Given the description of an element on the screen output the (x, y) to click on. 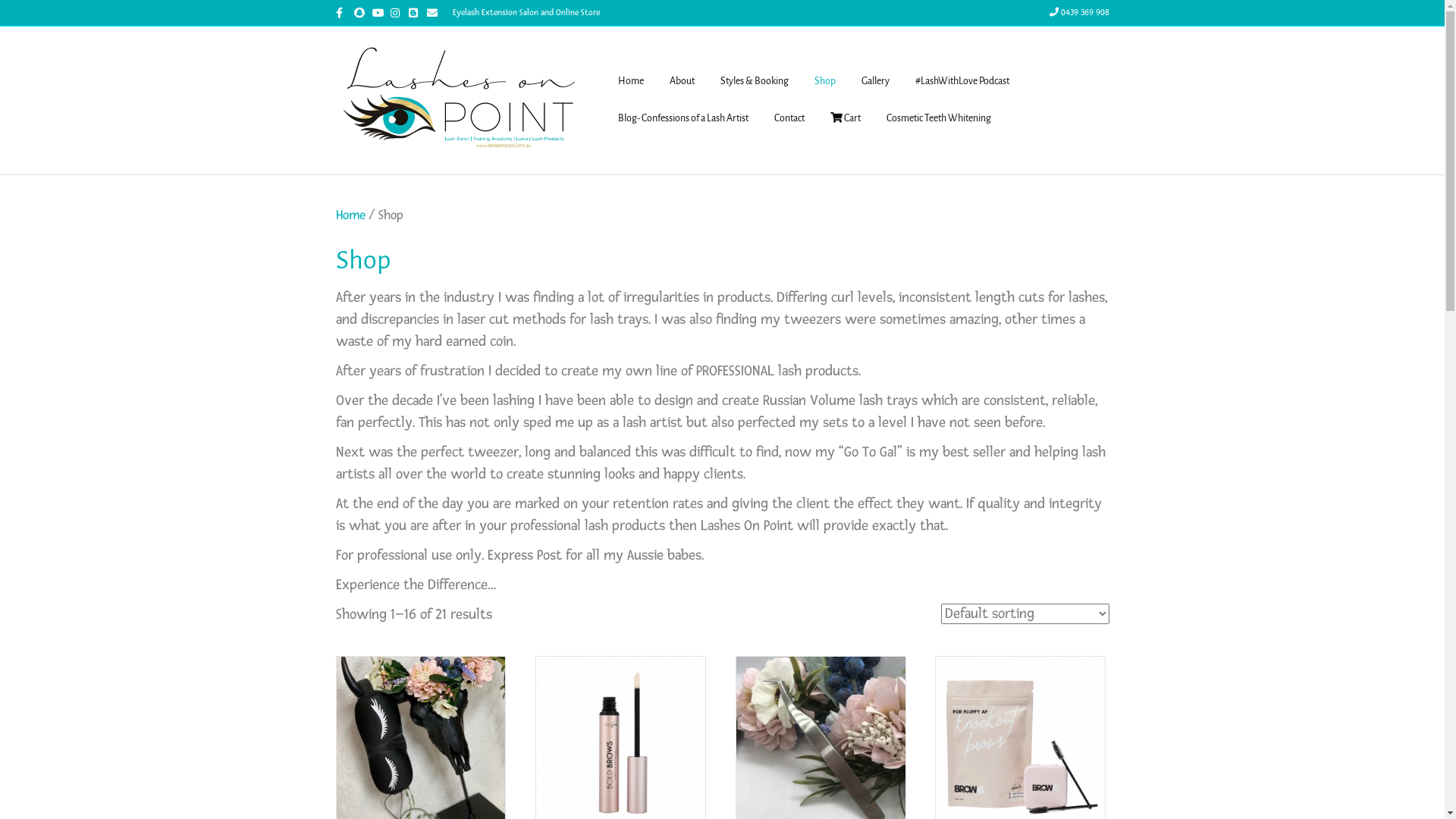
Youtube Element type: text (380, 12)
Instagram Element type: text (398, 12)
Blogger Element type: text (416, 12)
Cart Element type: text (845, 119)
Styles & Booking Element type: text (753, 81)
Home Element type: text (349, 214)
Cosmetic Teeth Whitening Element type: text (938, 119)
Facebook Element type: text (344, 12)
Contact Element type: text (789, 119)
Snapchat Element type: text (362, 12)
Blog- Confessions of a Lash Artist Element type: text (683, 119)
Home Element type: text (630, 81)
#LashWithLove Podcast Element type: text (962, 81)
About Element type: text (681, 81)
Email Element type: text (435, 12)
Gallery Element type: text (874, 81)
Shop Element type: text (823, 81)
